Given the description of an element on the screen output the (x, y) to click on. 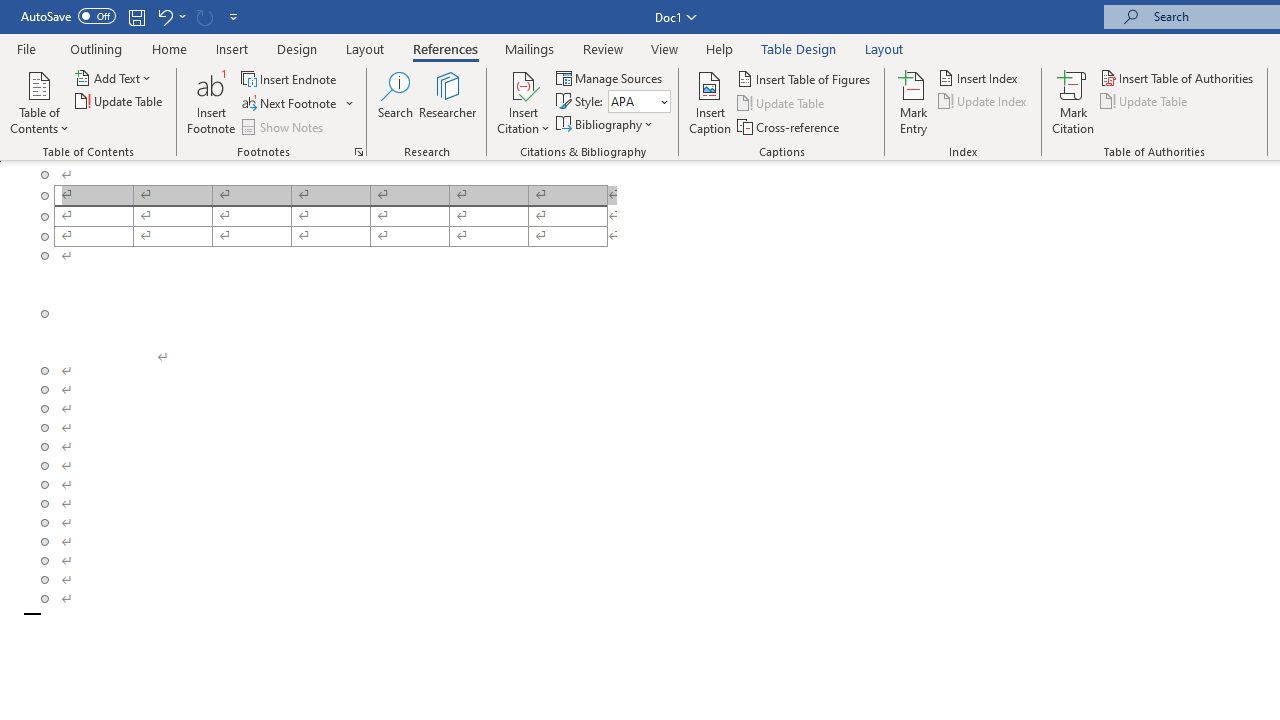
Update Table (1145, 101)
Add Text (114, 78)
Insert Caption... (710, 102)
Insert Endnote (290, 78)
Insert Citation (523, 102)
Bibliography (606, 124)
Style (639, 101)
Next Footnote (290, 103)
Update Index (984, 101)
Insert Footnote (211, 102)
